Given the description of an element on the screen output the (x, y) to click on. 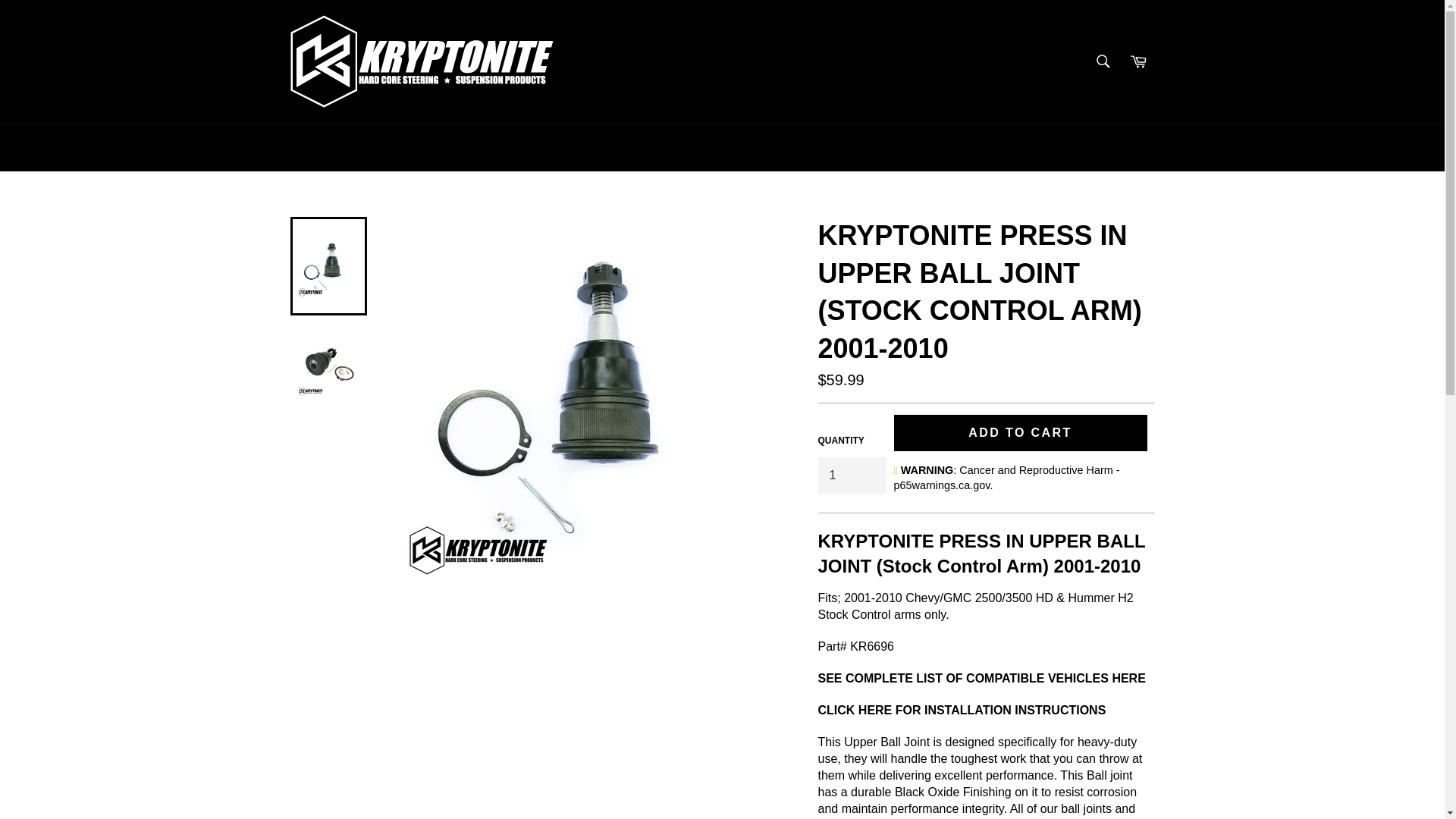
Search (1103, 60)
Cart (1138, 60)
1 (850, 475)
